Given the description of an element on the screen output the (x, y) to click on. 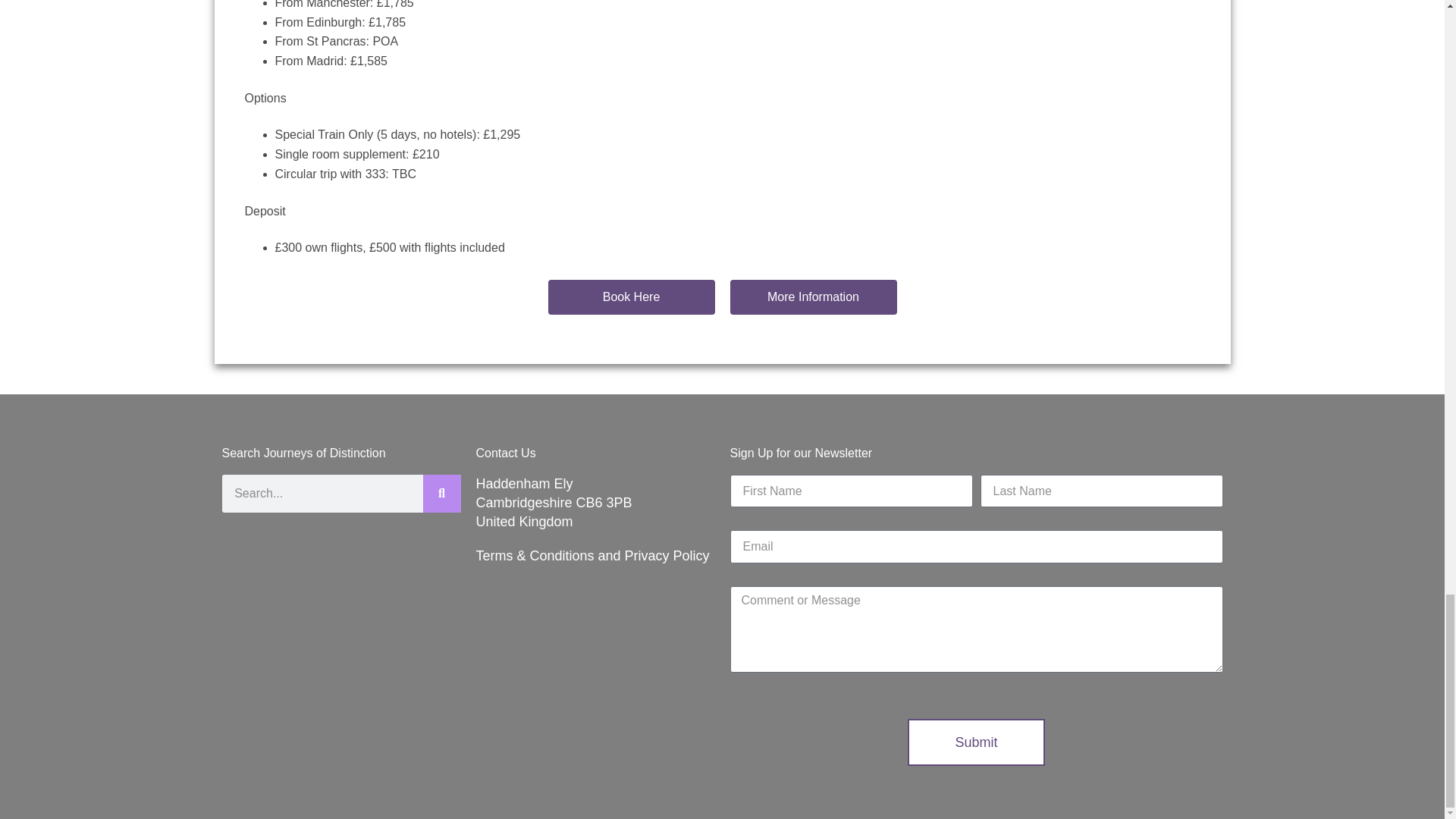
Book Here (630, 297)
More Information (812, 297)
Submit (975, 742)
